Given the description of an element on the screen output the (x, y) to click on. 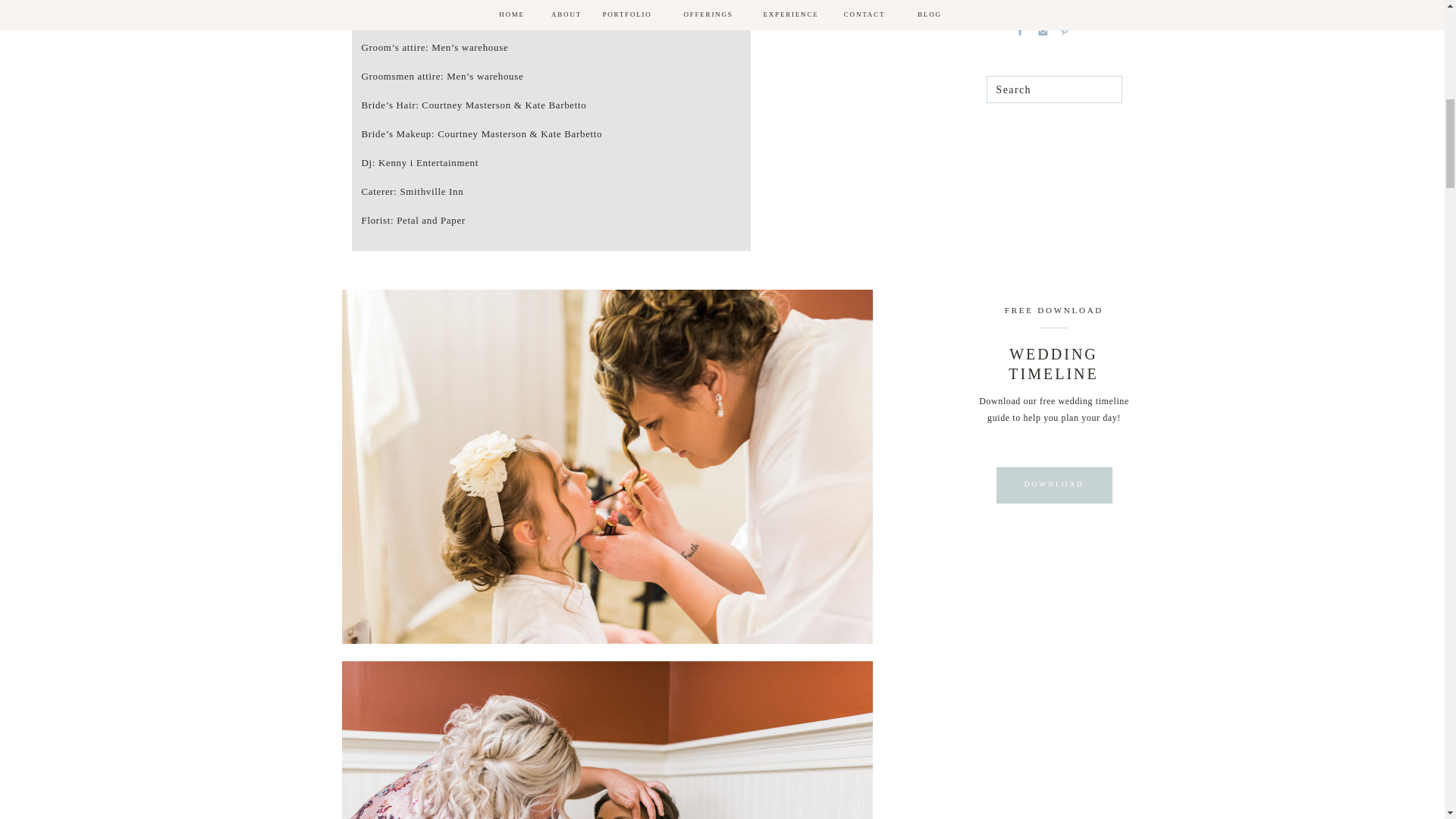
LEARN MORE (1039, 2)
arrow (1089, 5)
arrow (1089, 5)
DOWNLOAD (1053, 484)
